Given the description of an element on the screen output the (x, y) to click on. 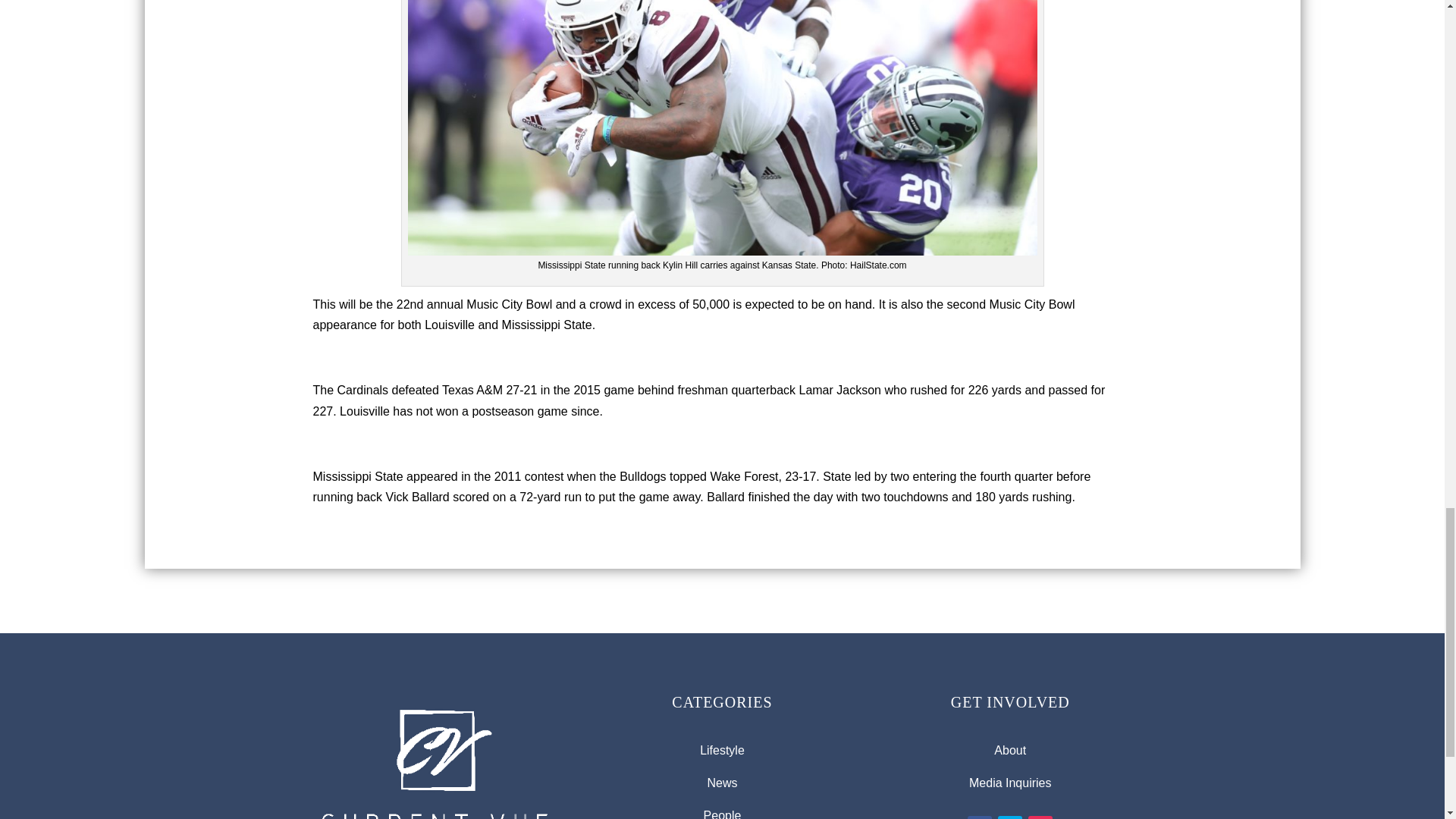
current vue logo white (433, 756)
Follow on Twitter (1009, 817)
About (1010, 749)
Media Inquiries (1010, 782)
Follow on Instagram (1039, 817)
Follow on Facebook (979, 817)
